Given the description of an element on the screen output the (x, y) to click on. 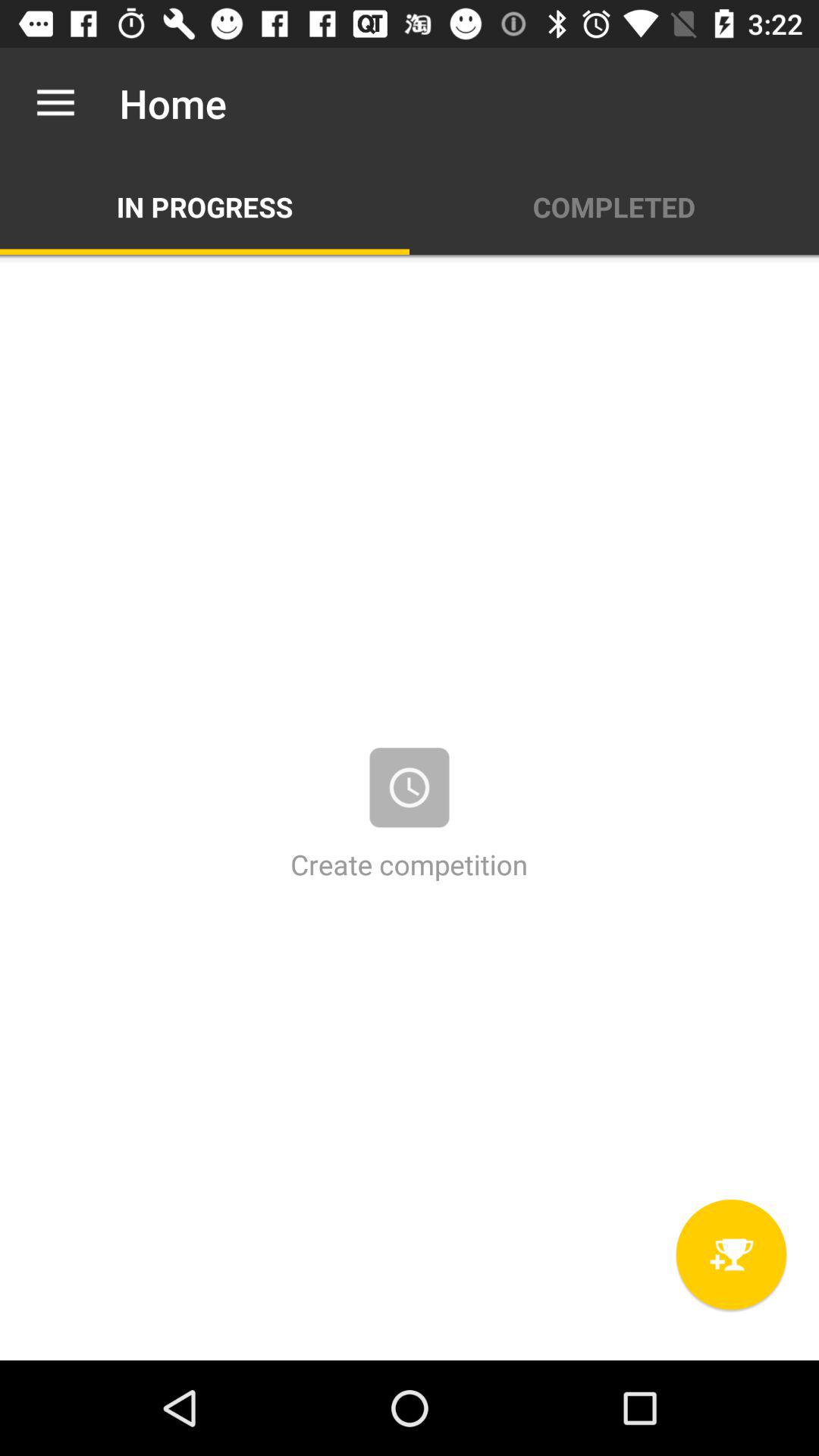
turn off the icon to the left of home icon (55, 103)
